Given the description of an element on the screen output the (x, y) to click on. 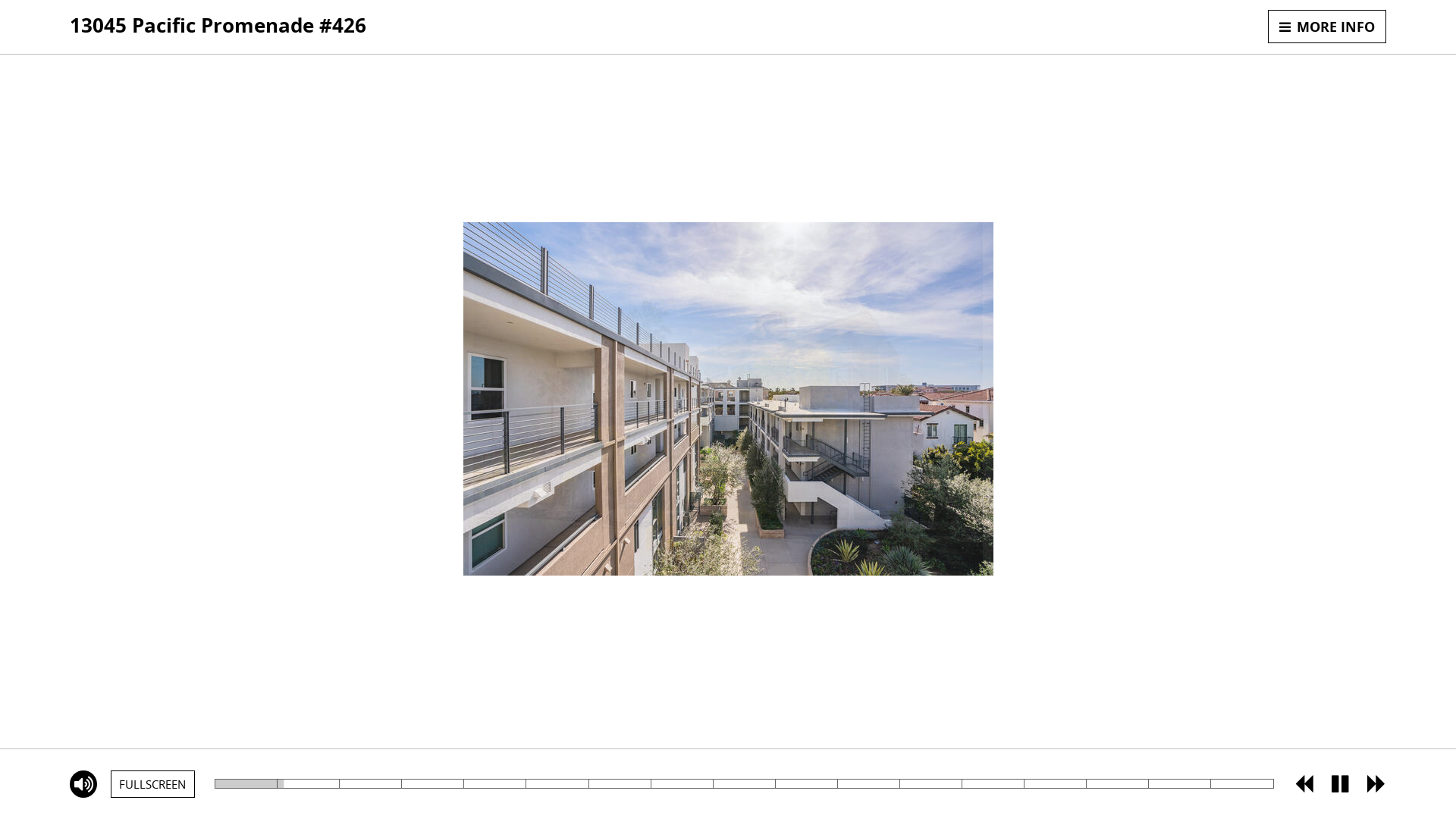
MORE INFO Element type: text (1326, 26)
